Given the description of an element on the screen output the (x, y) to click on. 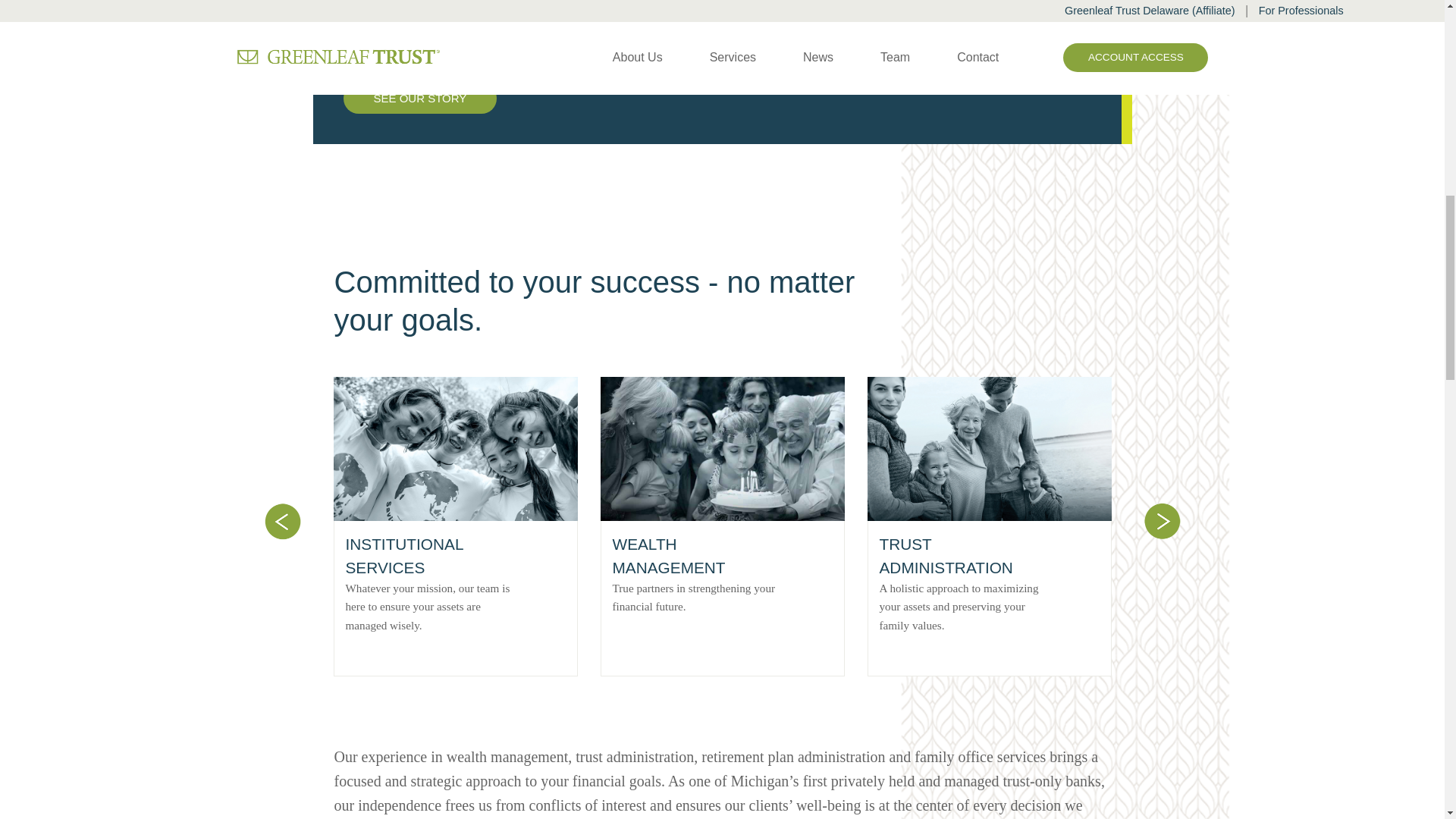
SEE OUR STORY (419, 98)
